Given the description of an element on the screen output the (x, y) to click on. 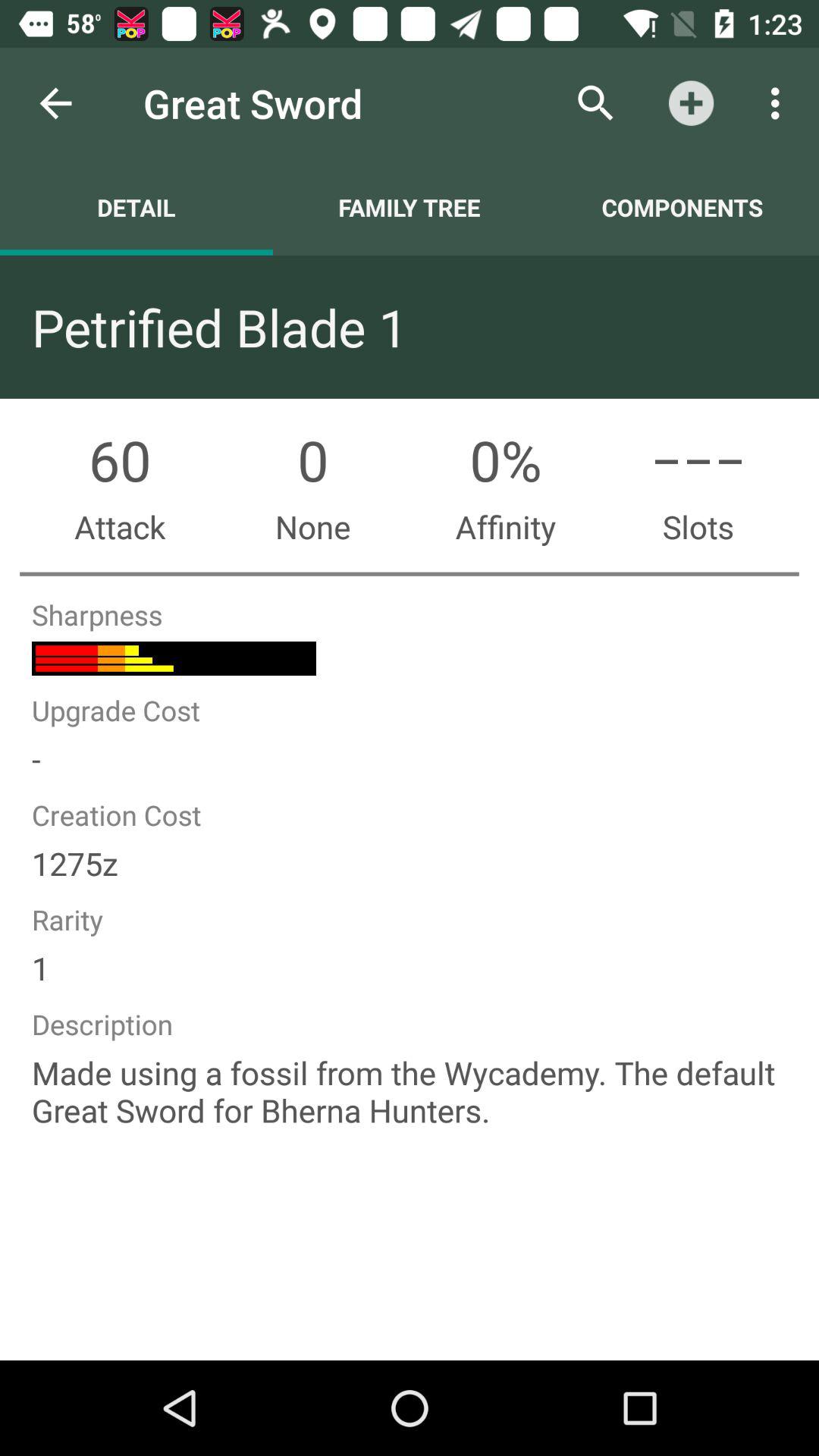
jump to family tree icon (409, 207)
